Given the description of an element on the screen output the (x, y) to click on. 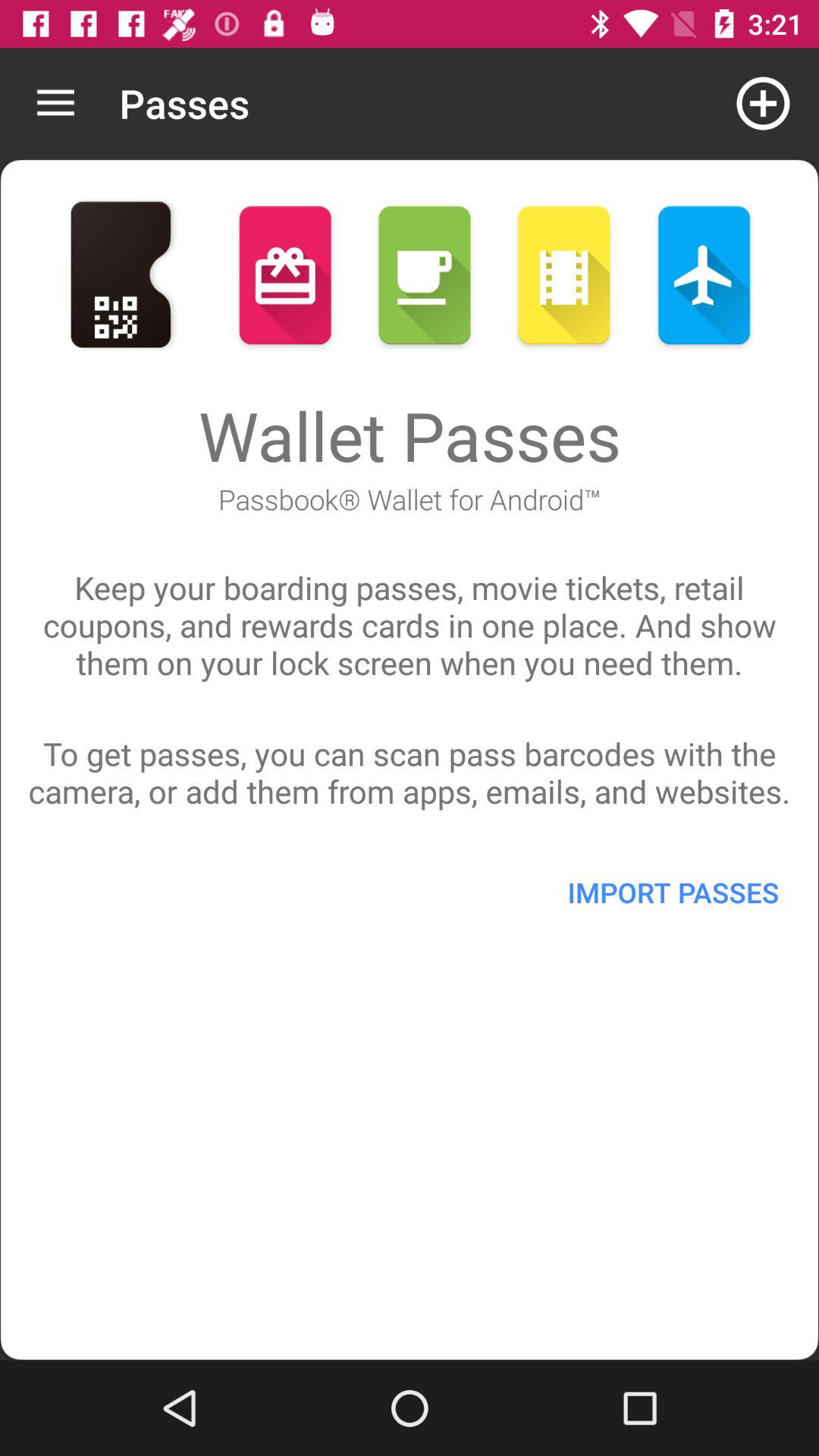
press the icon below to get passes (673, 892)
